Given the description of an element on the screen output the (x, y) to click on. 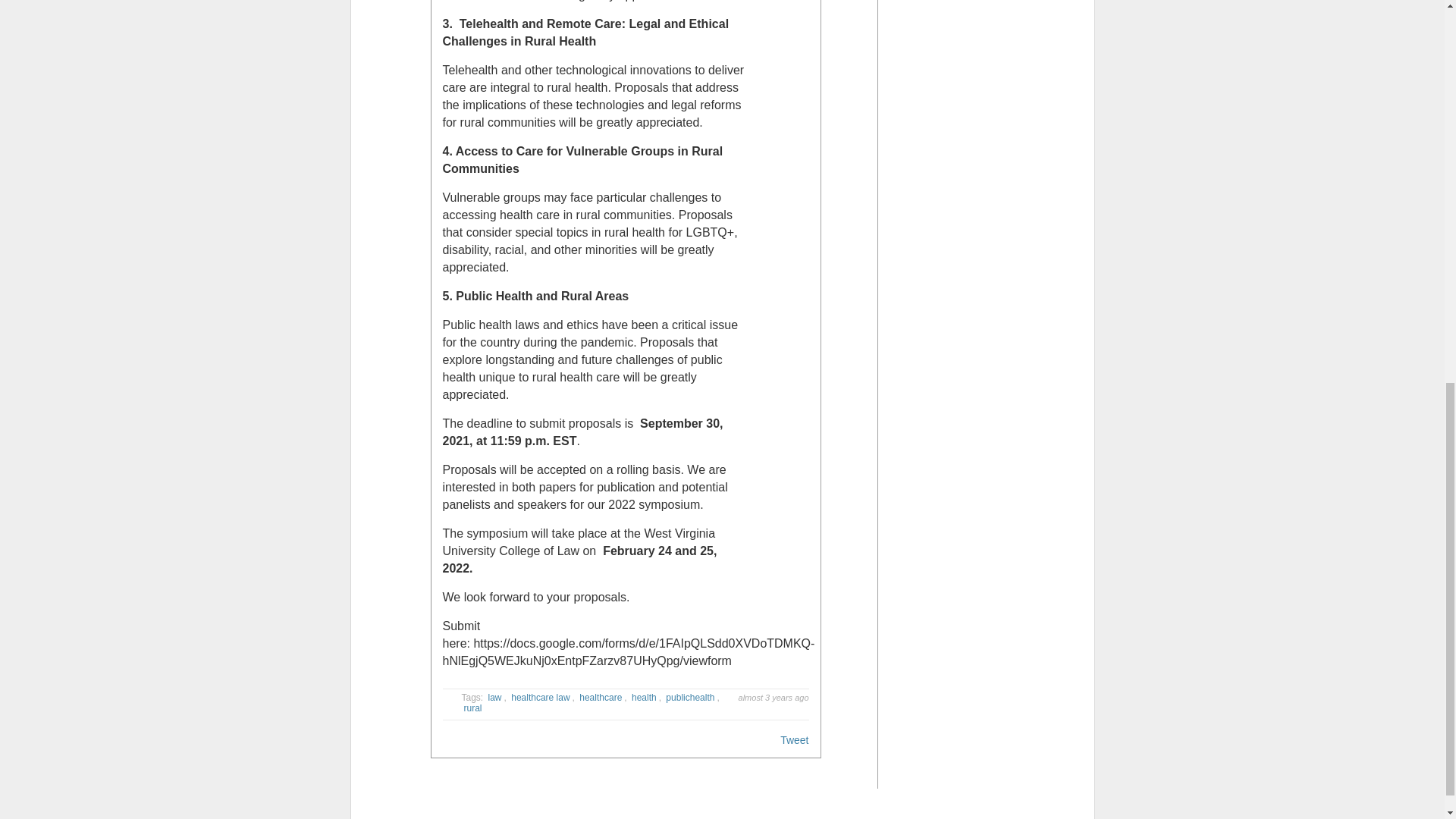
law (494, 696)
publichealth (689, 697)
health (643, 697)
Tweet (794, 739)
healthcare law (540, 696)
healthcare (600, 696)
rural (472, 707)
